Given the description of an element on the screen output the (x, y) to click on. 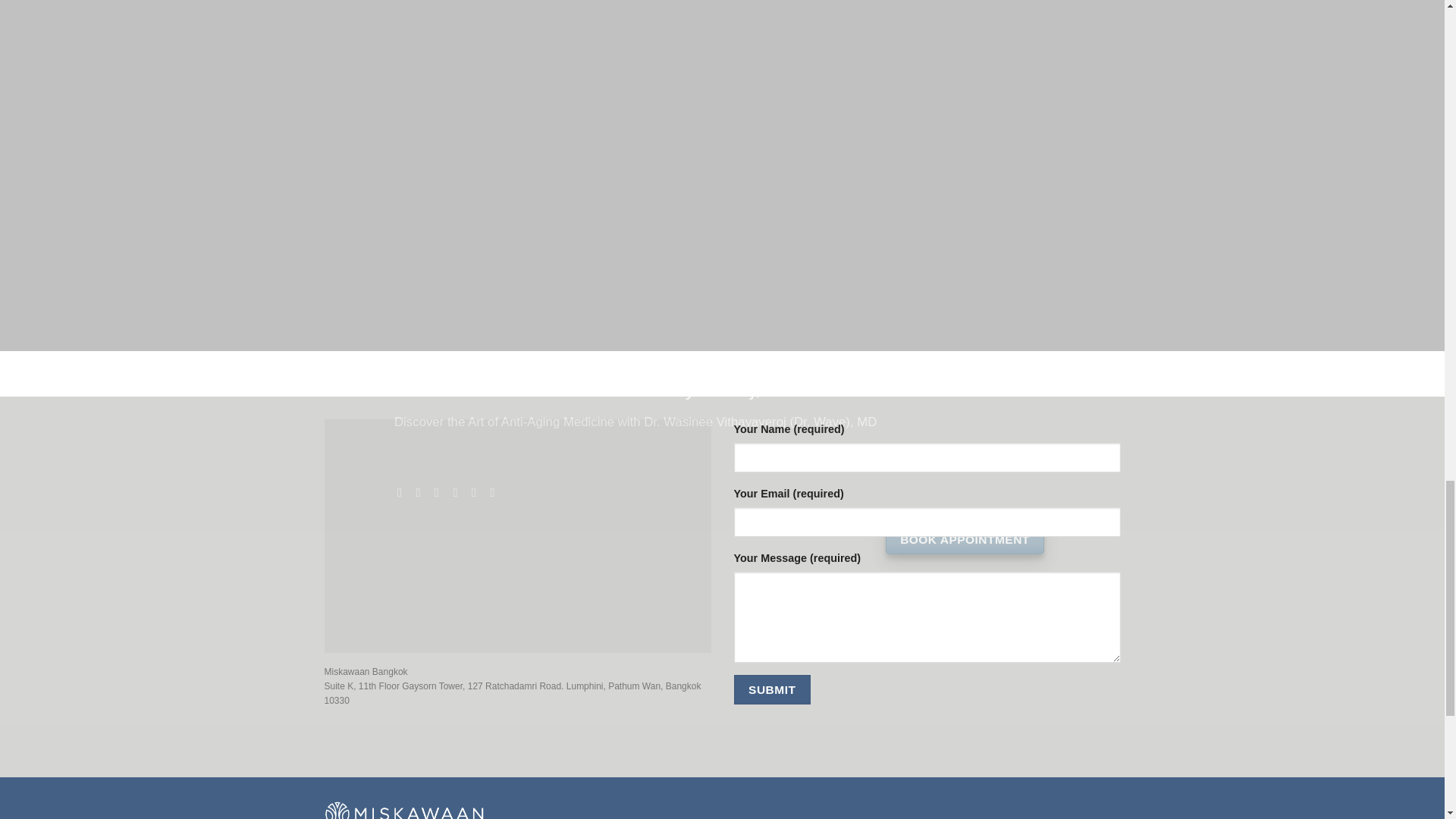
Submit (771, 689)
